Given the description of an element on the screen output the (x, y) to click on. 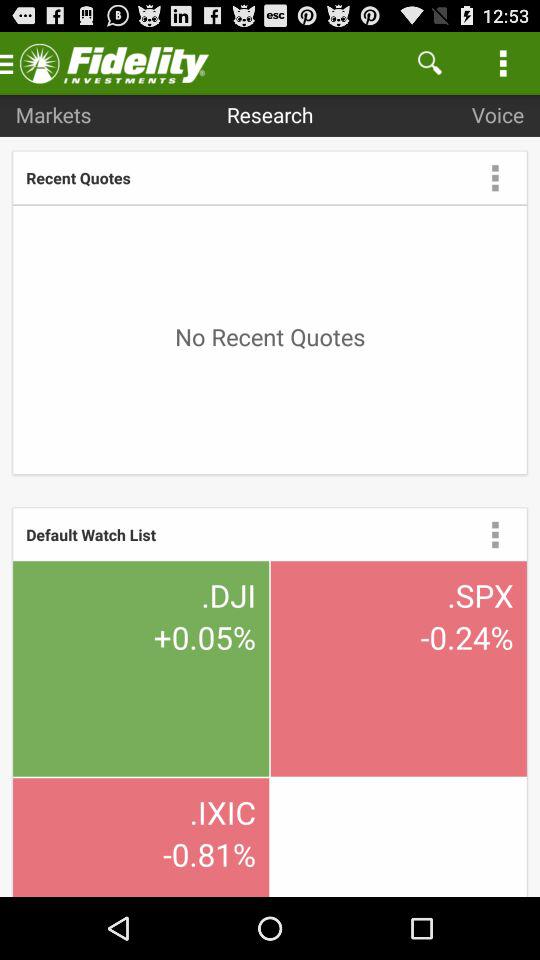
scroll until voice item (497, 114)
